Given the description of an element on the screen output the (x, y) to click on. 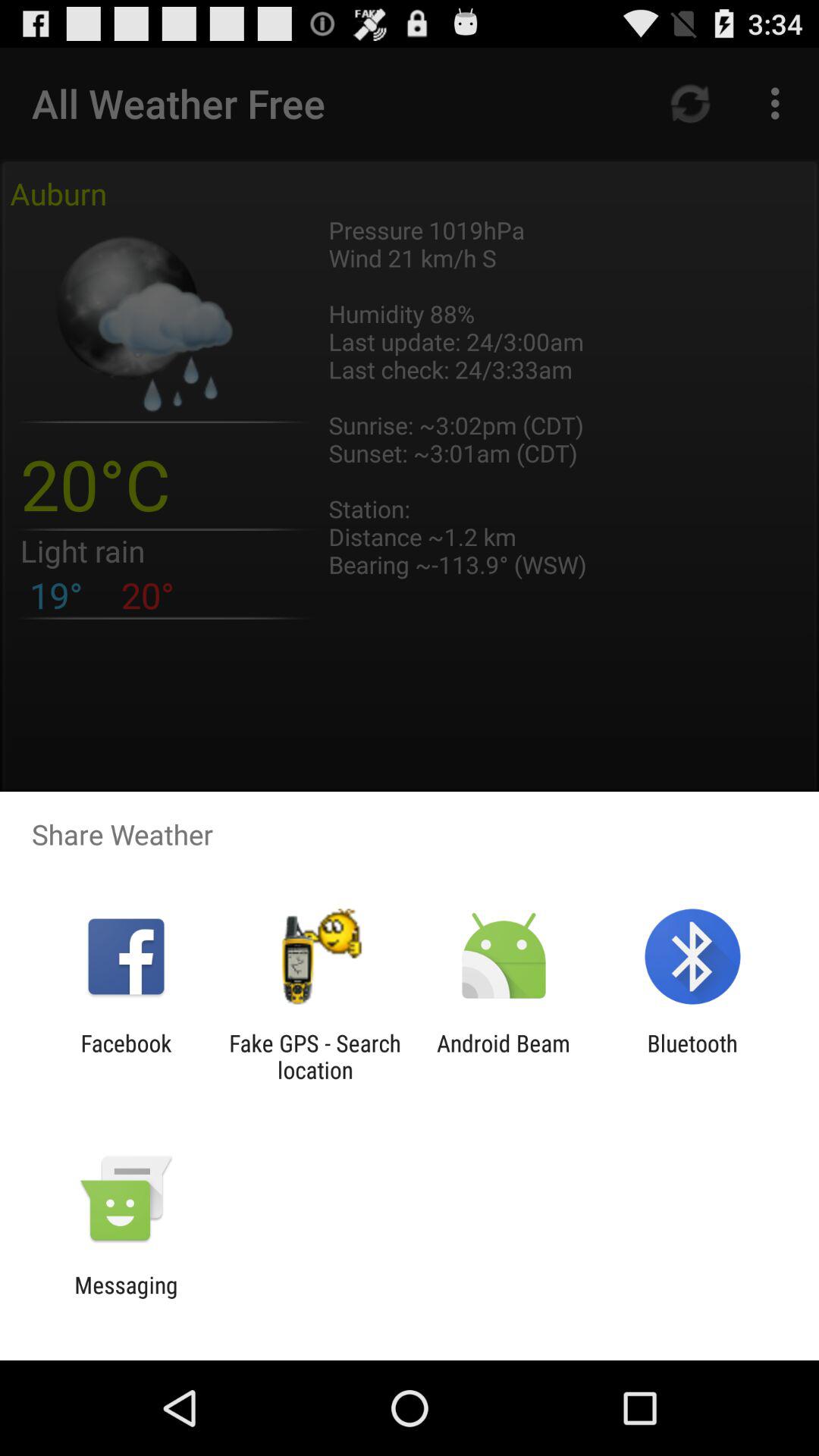
click the item to the left of the fake gps search item (125, 1056)
